Given the description of an element on the screen output the (x, y) to click on. 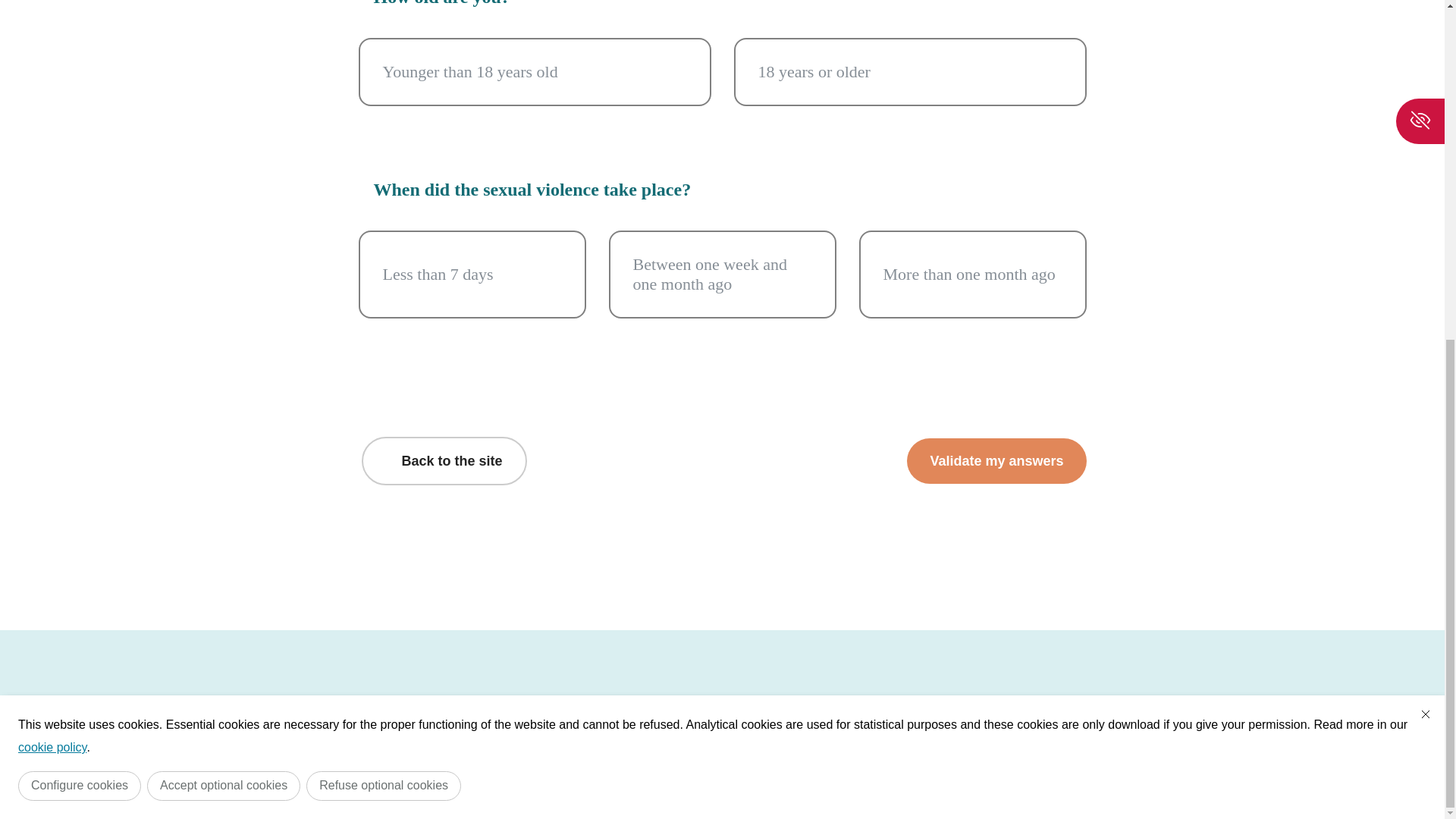
Back to the site (443, 459)
Configure cookies (79, 210)
Validate my answers (996, 460)
Accept optional cookies (223, 210)
Validate my answers (996, 460)
